Given the description of an element on the screen output the (x, y) to click on. 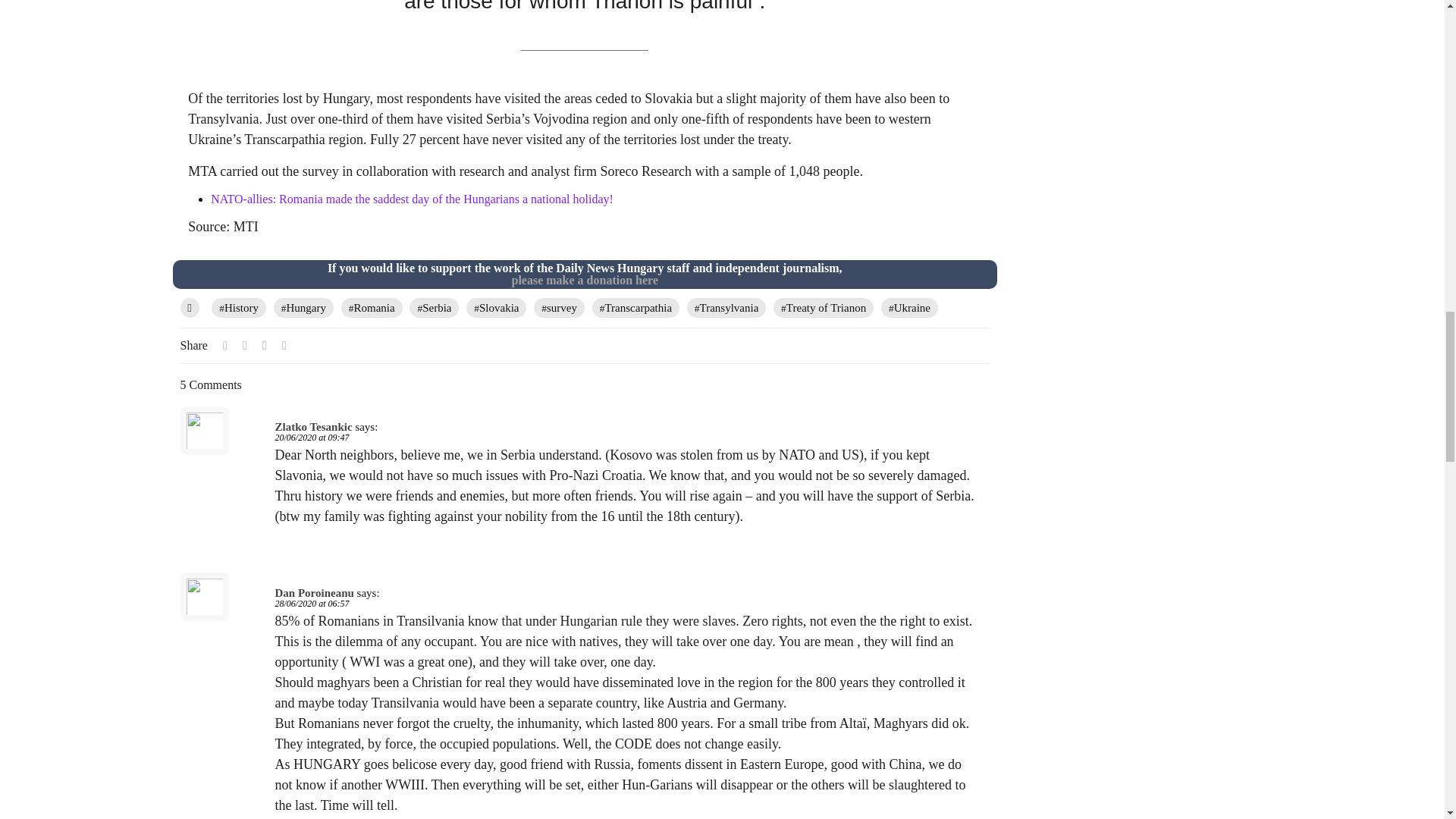
please make a donation here (584, 279)
History (238, 307)
Romania (371, 307)
Hungary (303, 307)
